Given the description of an element on the screen output the (x, y) to click on. 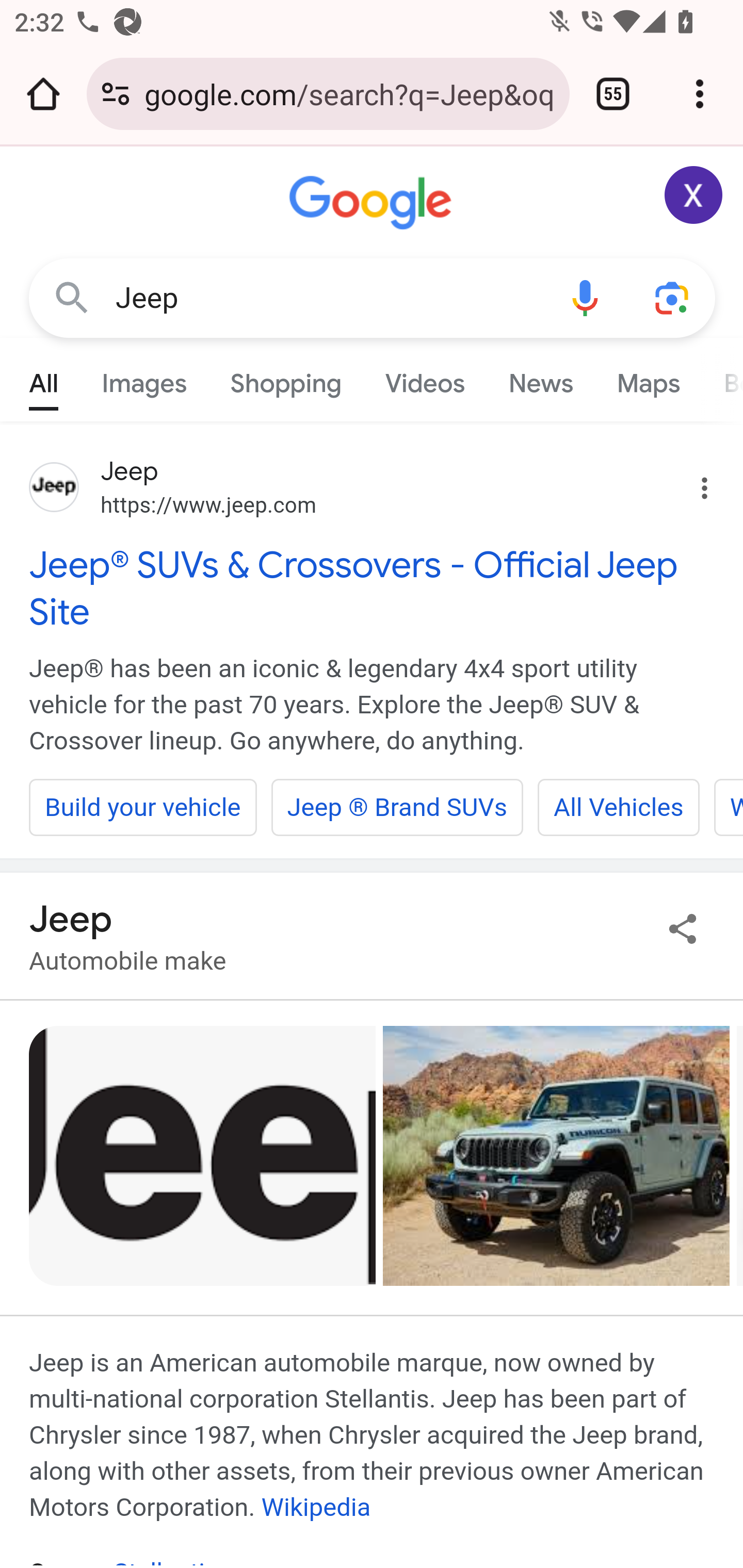
Open the home page (43, 93)
Connection is secure (115, 93)
Switch or close tabs (612, 93)
Customize and control Google Chrome (699, 93)
Google (372, 203)
Google Account: Xiaoran (zxrappiumtest@gmail.com) (694, 195)
Google Search (71, 296)
Search using your camera or photos (672, 296)
Jeep (328, 297)
Images (144, 378)
Shopping (285, 378)
Videos (424, 378)
News (540, 378)
Maps (647, 378)
Jeep® SUVs & Crossovers - Official Jeep Site (372, 587)
Build your vehicle (142, 807)
Jeep ® Brand SUVs (397, 807)
All Vehicles (618, 807)
Share (683, 928)
Wikipedia (316, 1507)
